Given the description of an element on the screen output the (x, y) to click on. 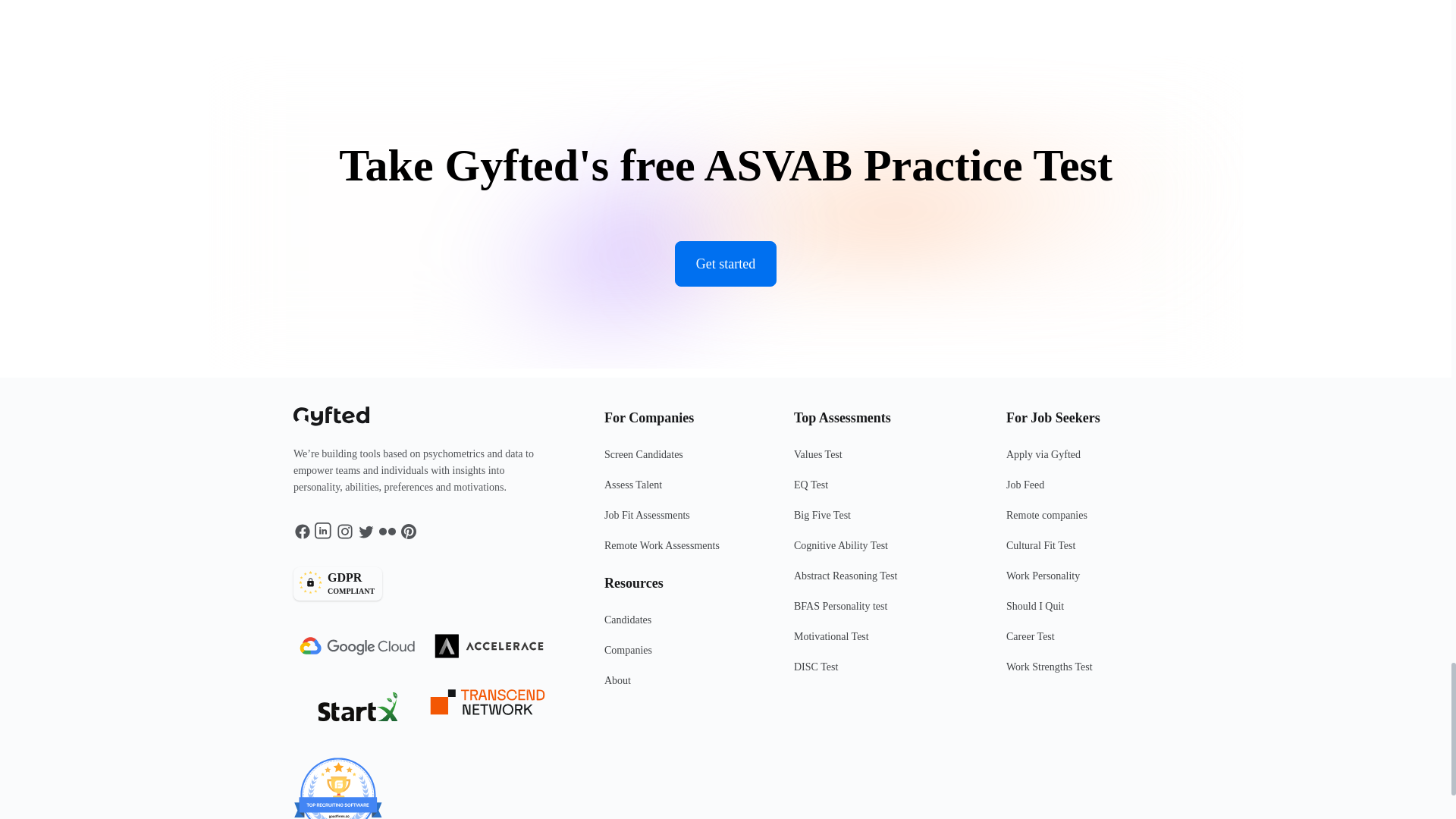
Remote Work Assessments (679, 552)
Job Fit Assessments (679, 521)
Candidates (679, 625)
Assess Talent (679, 490)
Get started (725, 263)
EQ Test (880, 490)
About (679, 686)
Values Test (880, 460)
Companies (679, 656)
Screen Candidates (425, 583)
